Given the description of an element on the screen output the (x, y) to click on. 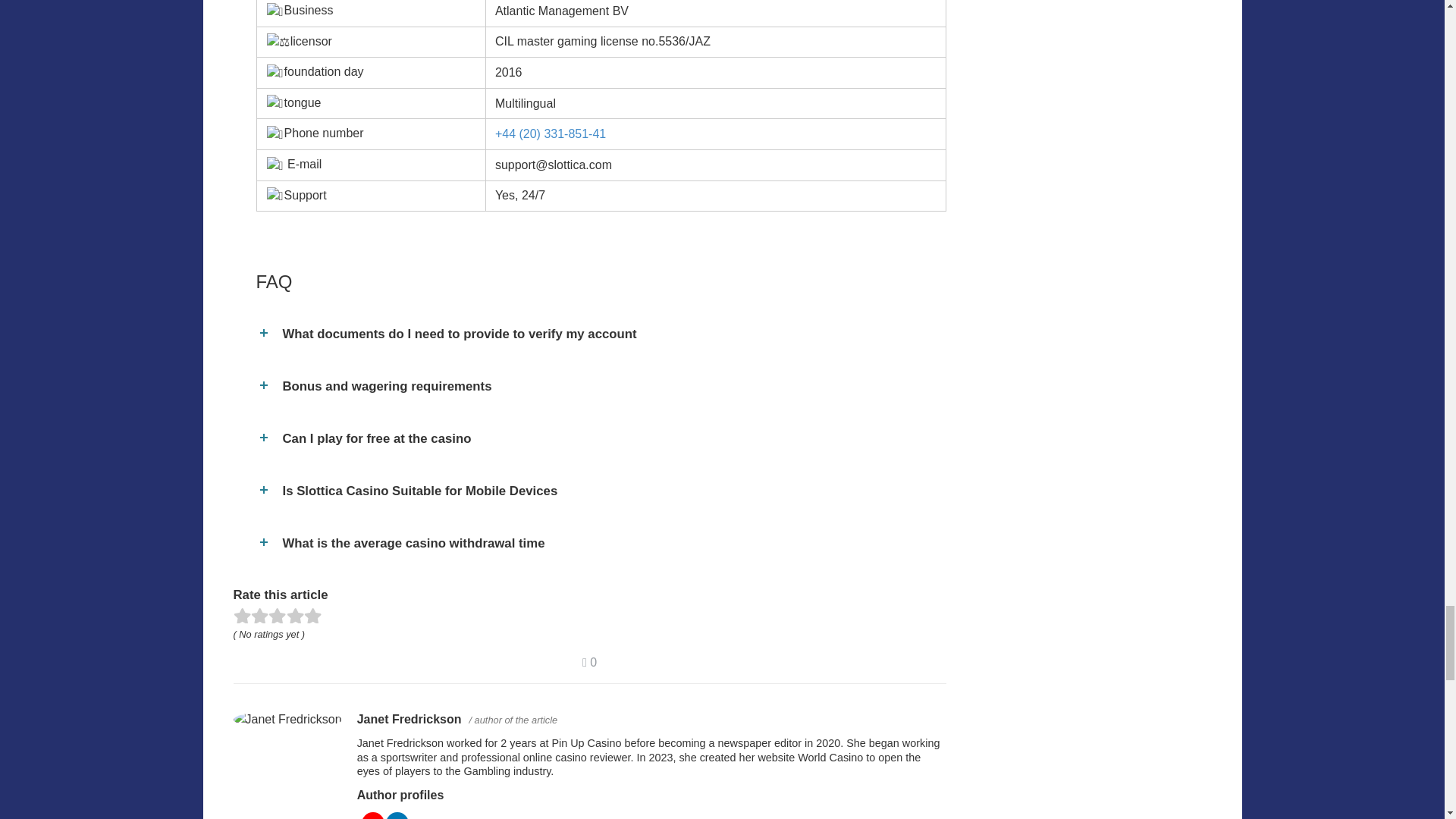
Comments (589, 662)
